Given the description of an element on the screen output the (x, y) to click on. 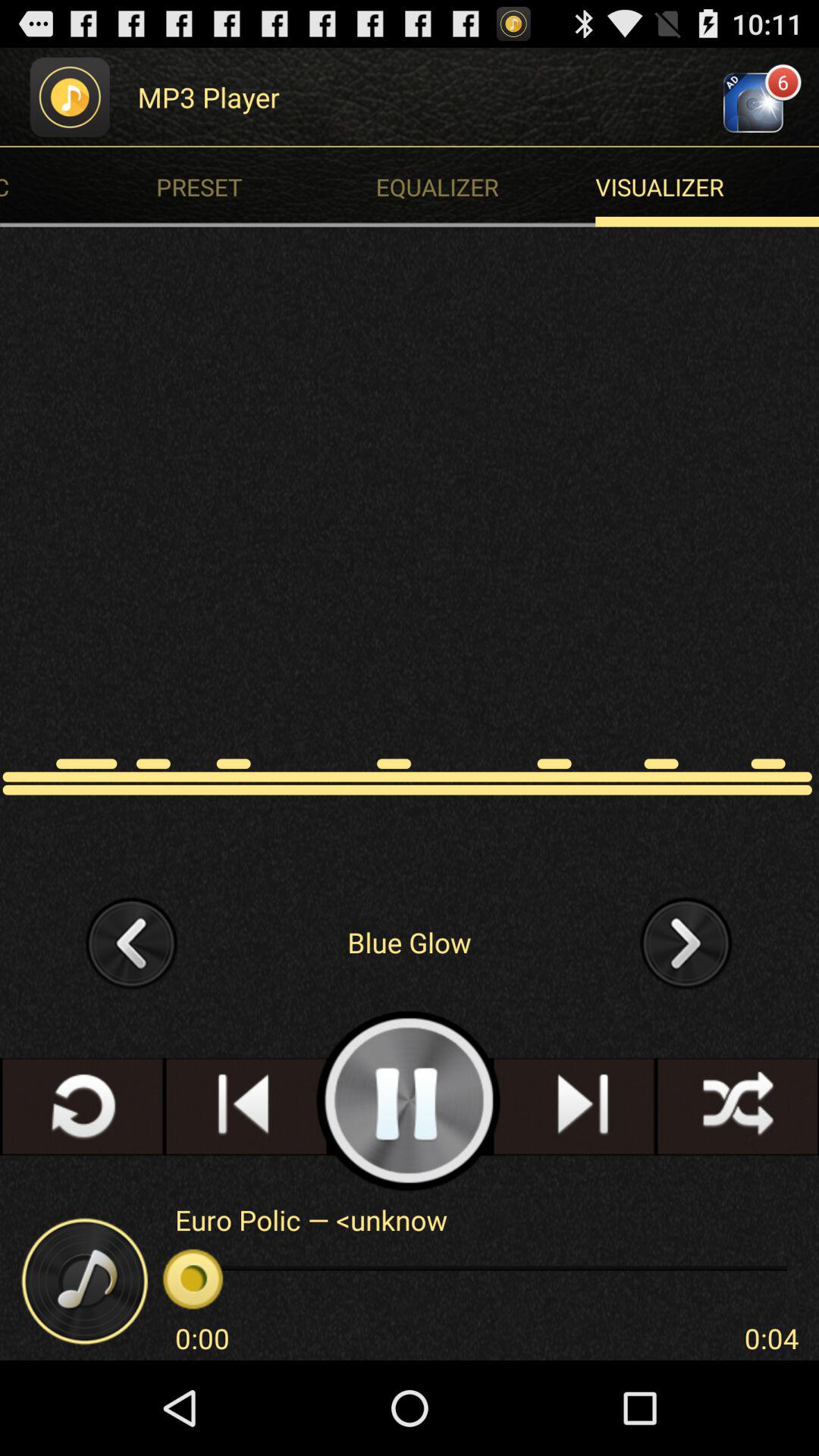
choose item next to the visualizer (269, 186)
